Given the description of an element on the screen output the (x, y) to click on. 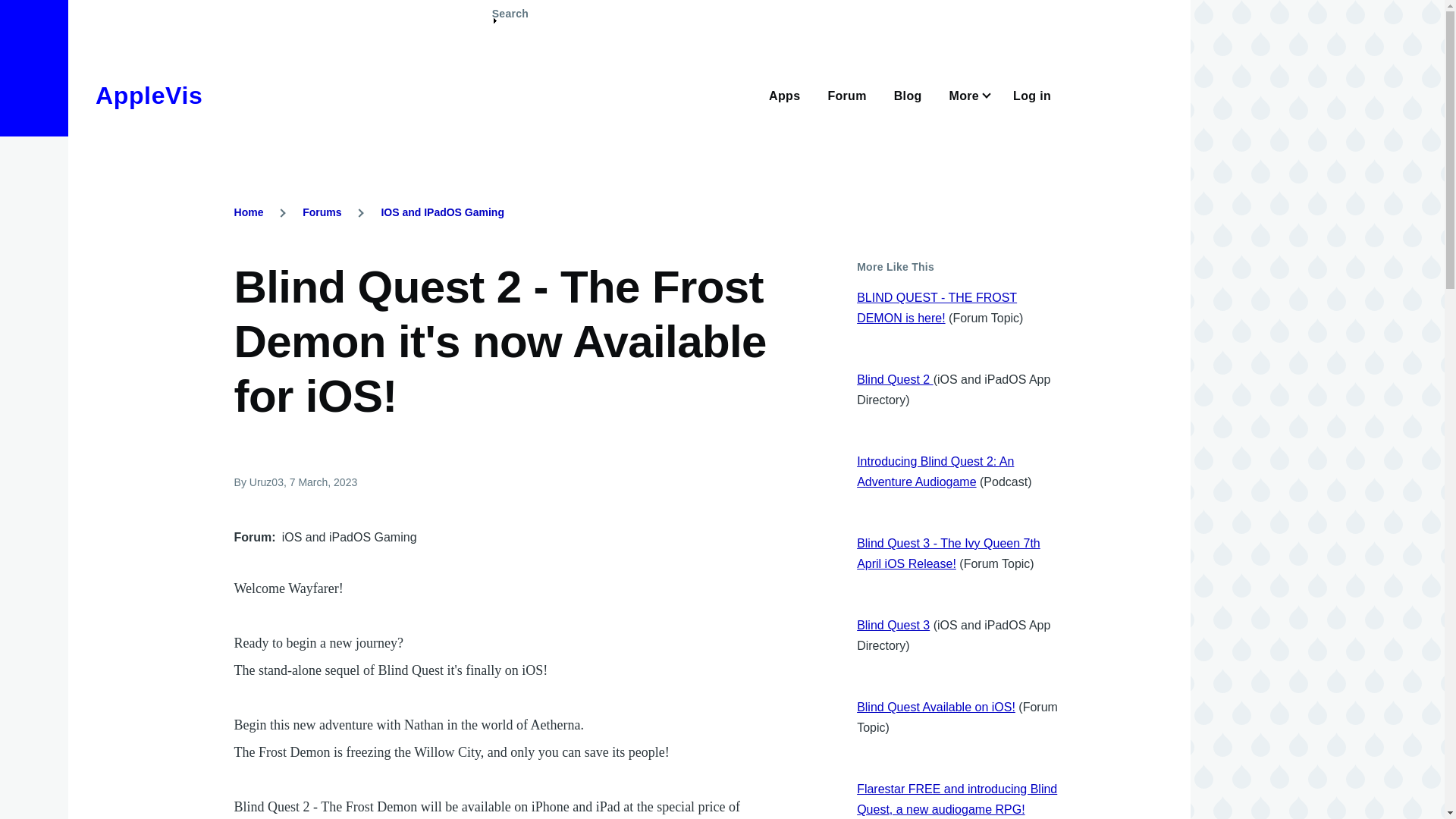
Search (510, 20)
Forums (321, 212)
Blind Quest 3 - The Ivy Queen 7th April iOS Release! (949, 553)
Blind Quest Available on iOS! (935, 707)
Blind Quest 3 (893, 625)
IOS and IPadOS Gaming (441, 212)
Skip to main content (595, 6)
AppleVis (149, 94)
Home (149, 94)
Blind Quest 2 (895, 379)
Home (248, 212)
BLIND QUEST - THE FROST DEMON is here! (936, 307)
Introducing Blind Quest 2: An Adventure Audiogame (935, 471)
